Given the description of an element on the screen output the (x, y) to click on. 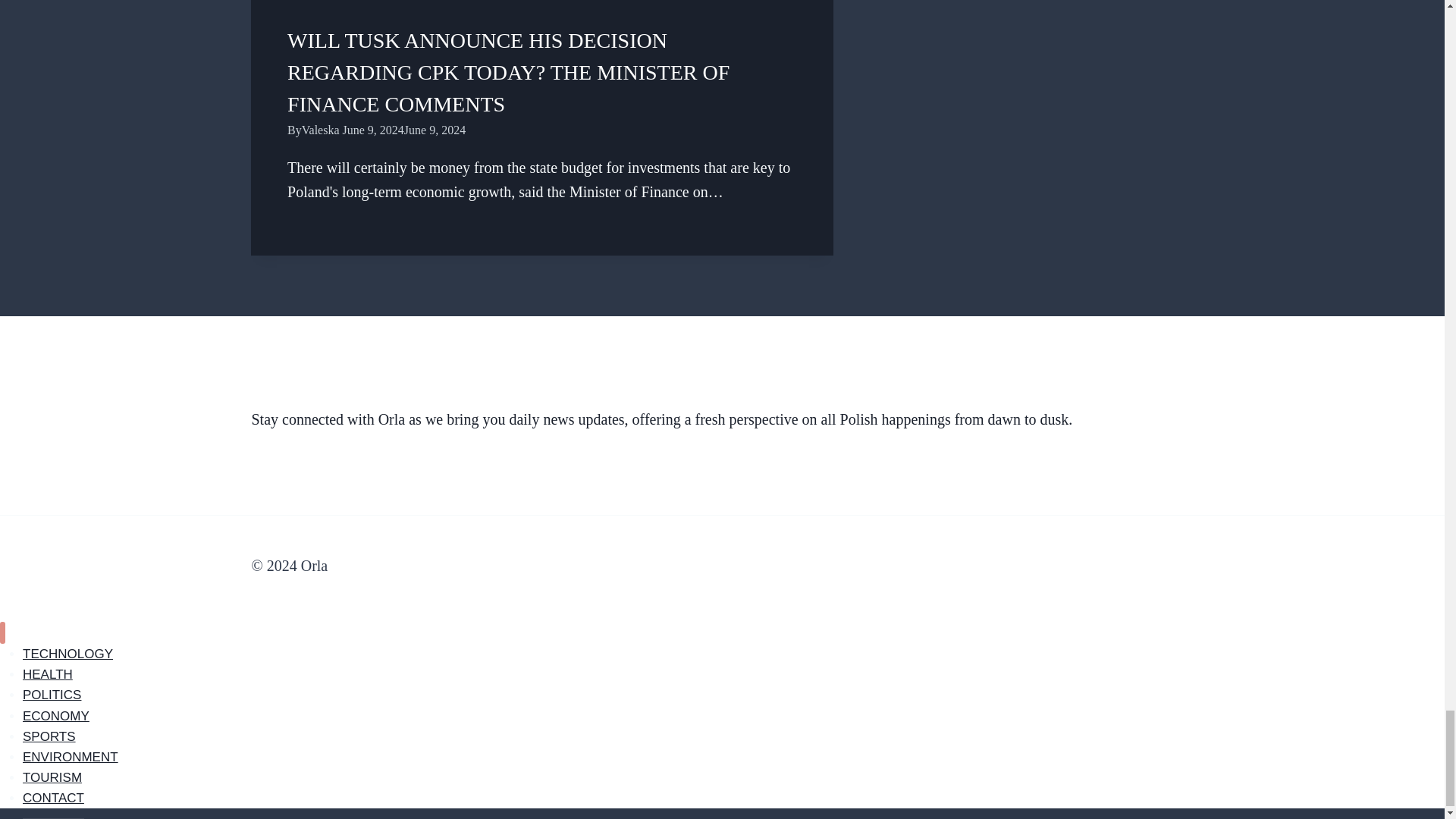
HEALTH (47, 674)
TECHNOLOGY (68, 653)
POLITICS (52, 694)
